Given the description of an element on the screen output the (x, y) to click on. 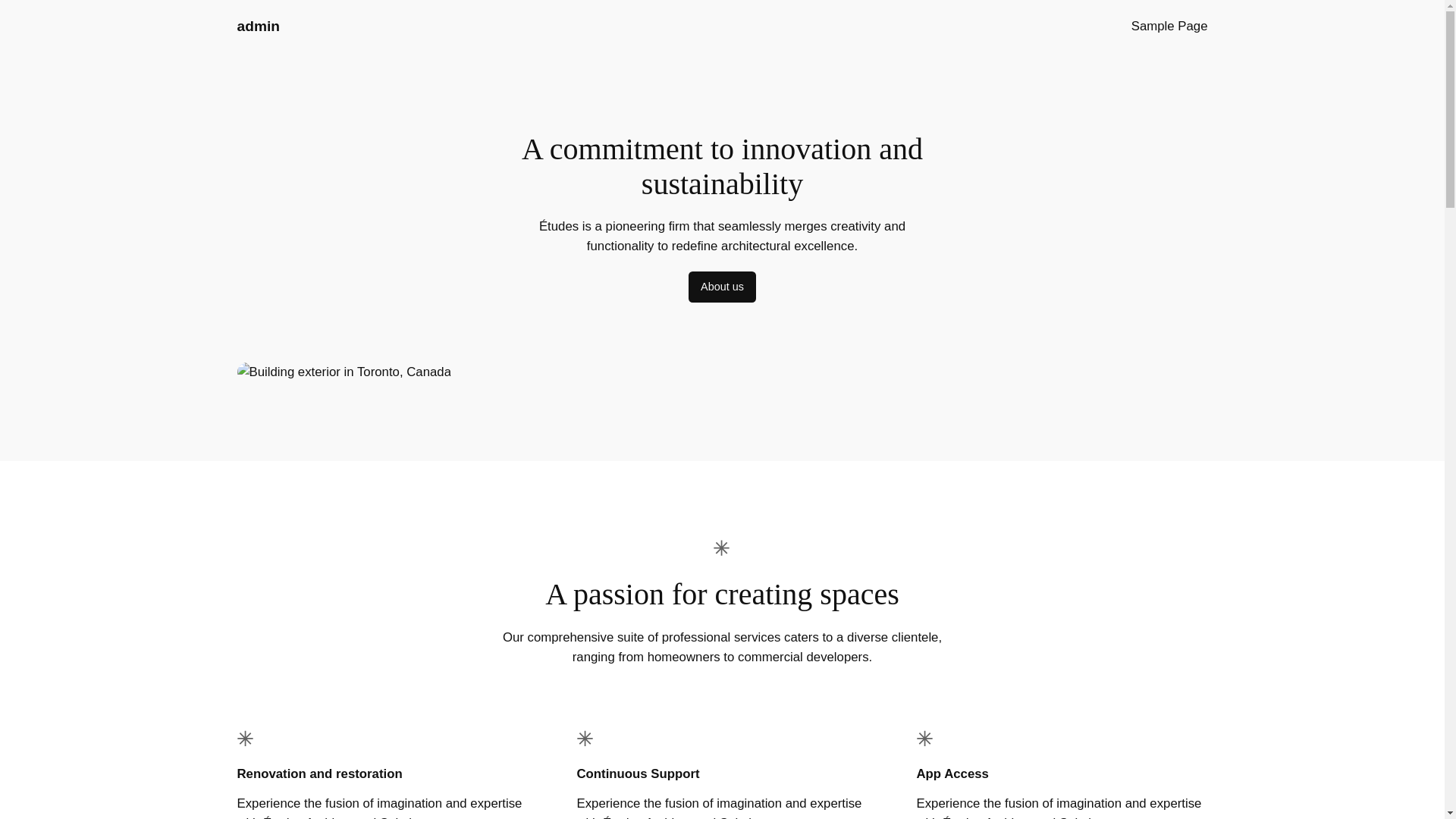
About us (721, 287)
Sample Page (1169, 26)
admin (257, 26)
